Given the description of an element on the screen output the (x, y) to click on. 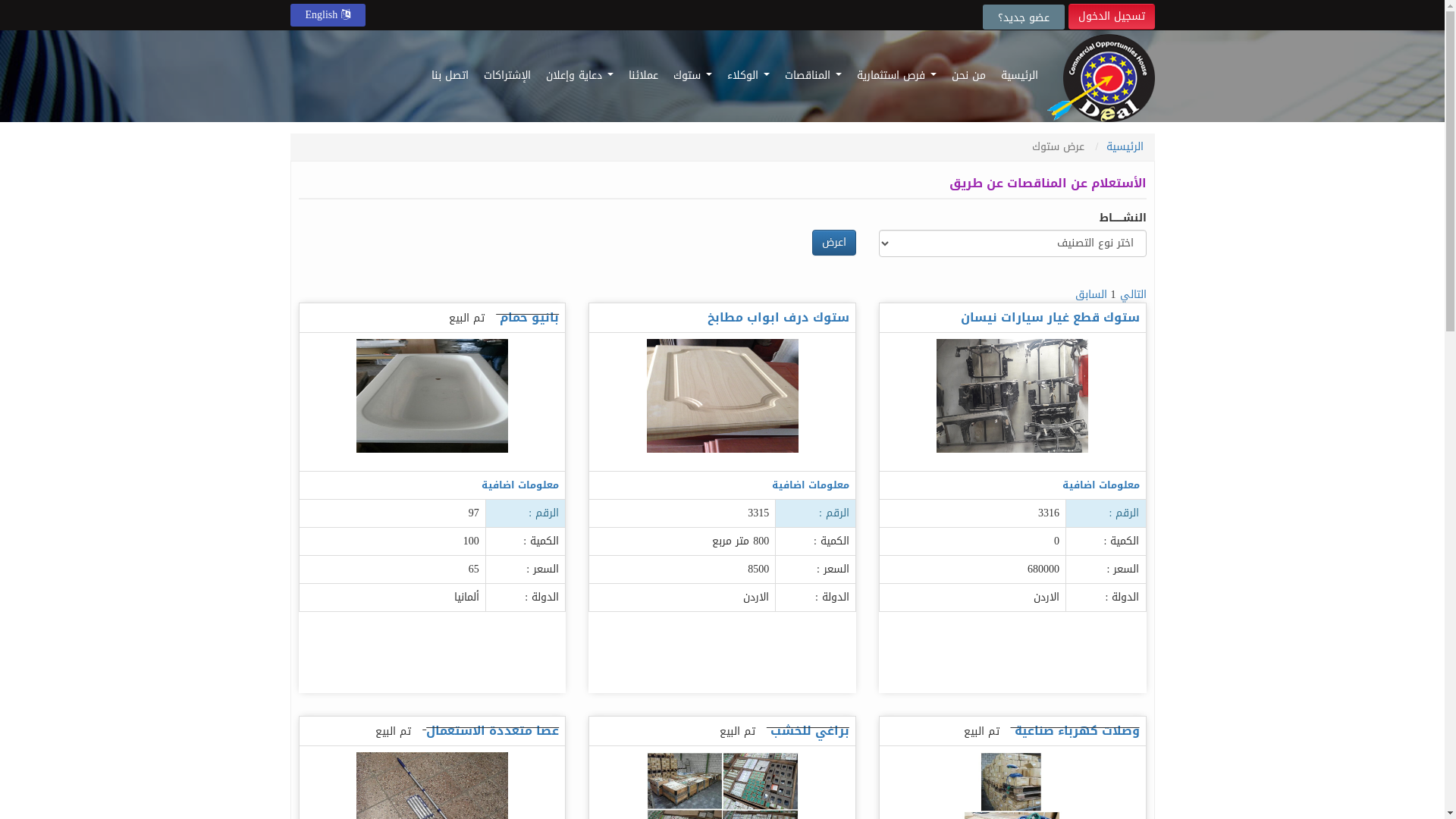
English Element type: text (327, 14)
